Given the description of an element on the screen output the (x, y) to click on. 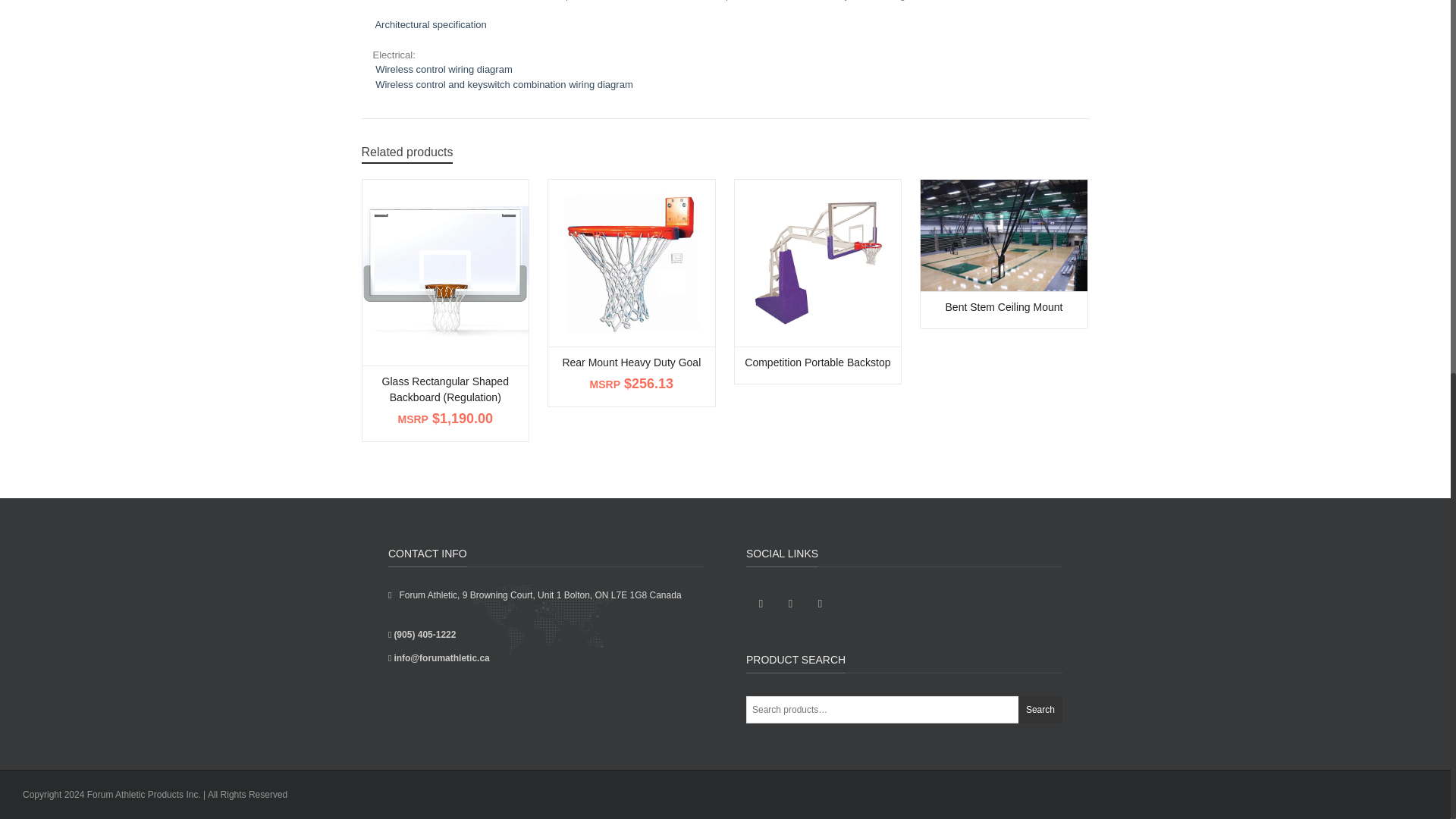
Rear Mount Heavy Duty Goal (631, 262)
Competition Portable Backstop (818, 262)
Bent Stem Ceiling Mount (1003, 234)
